Given the description of an element on the screen output the (x, y) to click on. 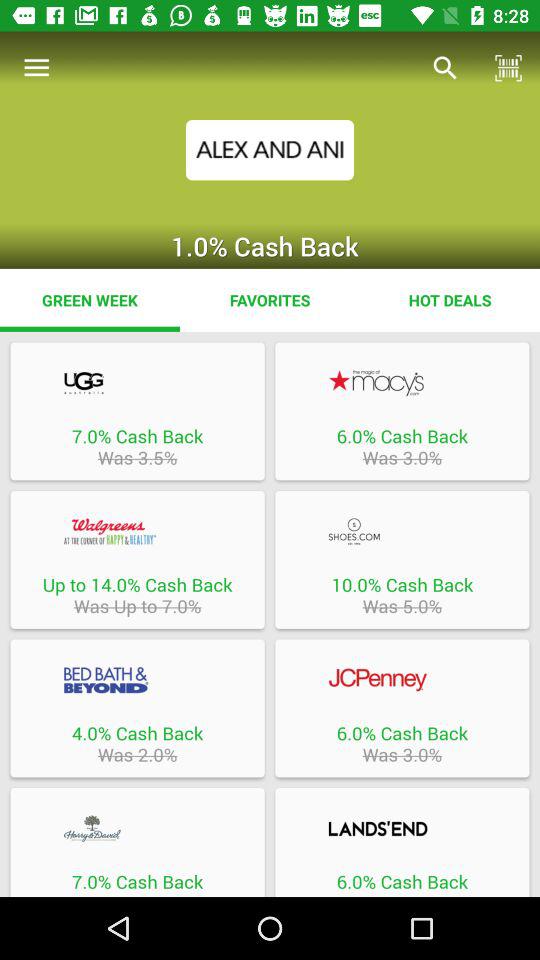
choose hot deals icon (450, 299)
